Given the description of an element on the screen output the (x, y) to click on. 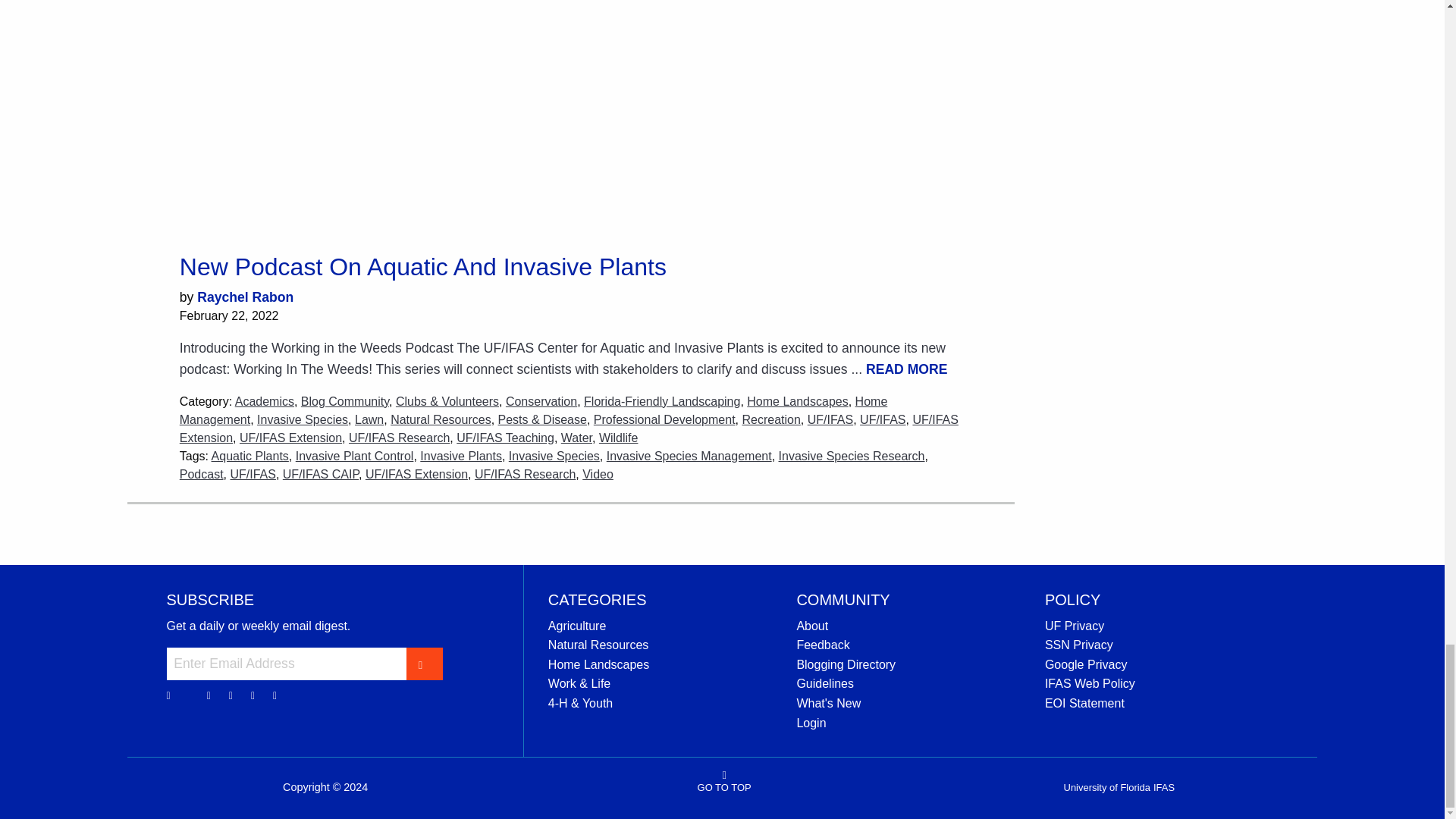
Enter Email Address (287, 663)
